Given the description of an element on the screen output the (x, y) to click on. 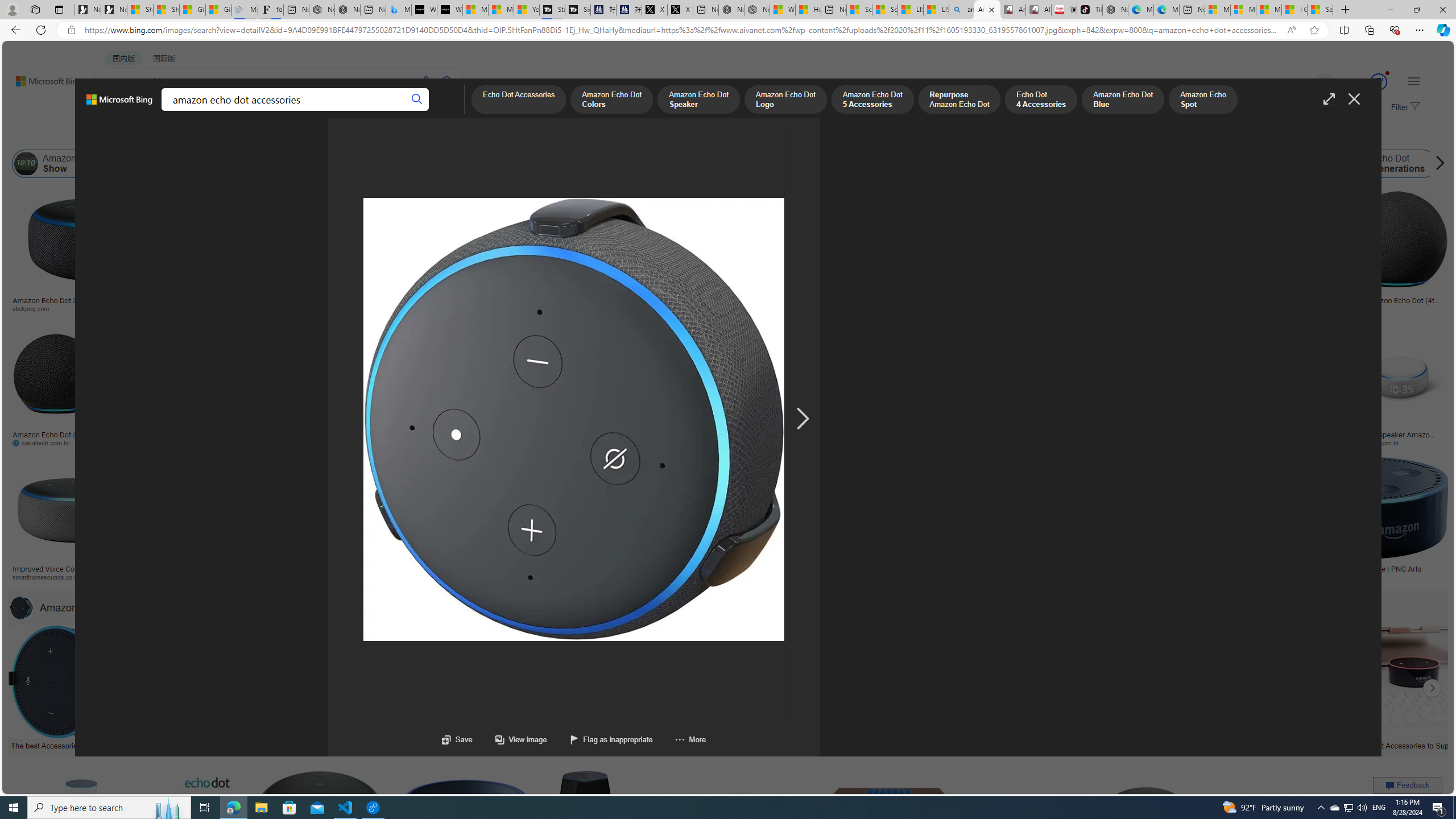
People (295, 135)
Alexa Echo Png Pic Png Arts Imagestpsearchtool.comSave (924, 252)
Amazon Echo Spot (1165, 163)
Amazon Echo Dot Speaker (697, 100)
View image (509, 739)
mediamarkt.es (638, 576)
